Given the description of an element on the screen output the (x, y) to click on. 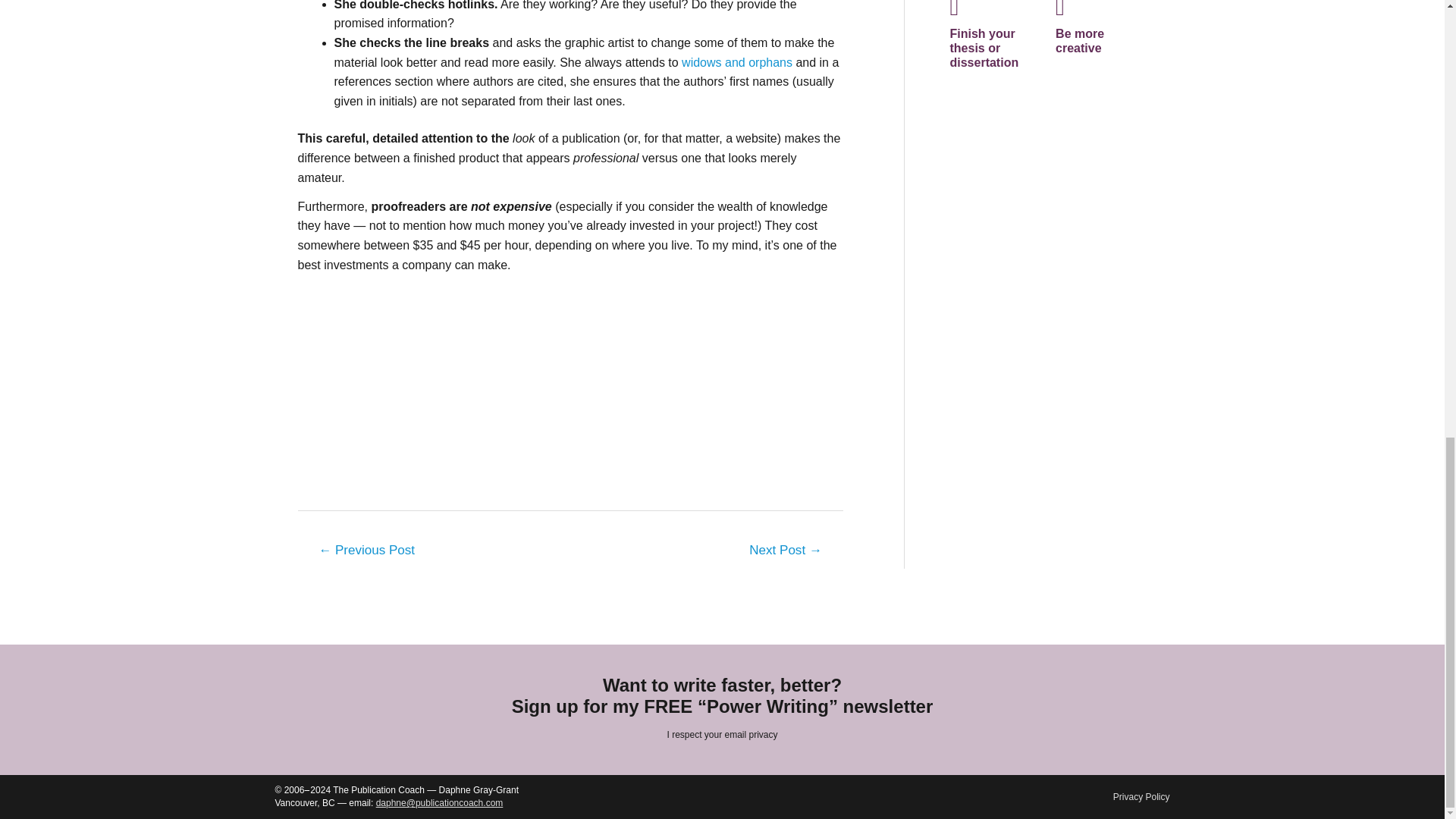
widows and orphans (737, 62)
Nostalgia and newspapers (785, 552)
Like a shoebox that opens into Narnia... (365, 552)
